Given the description of an element on the screen output the (x, y) to click on. 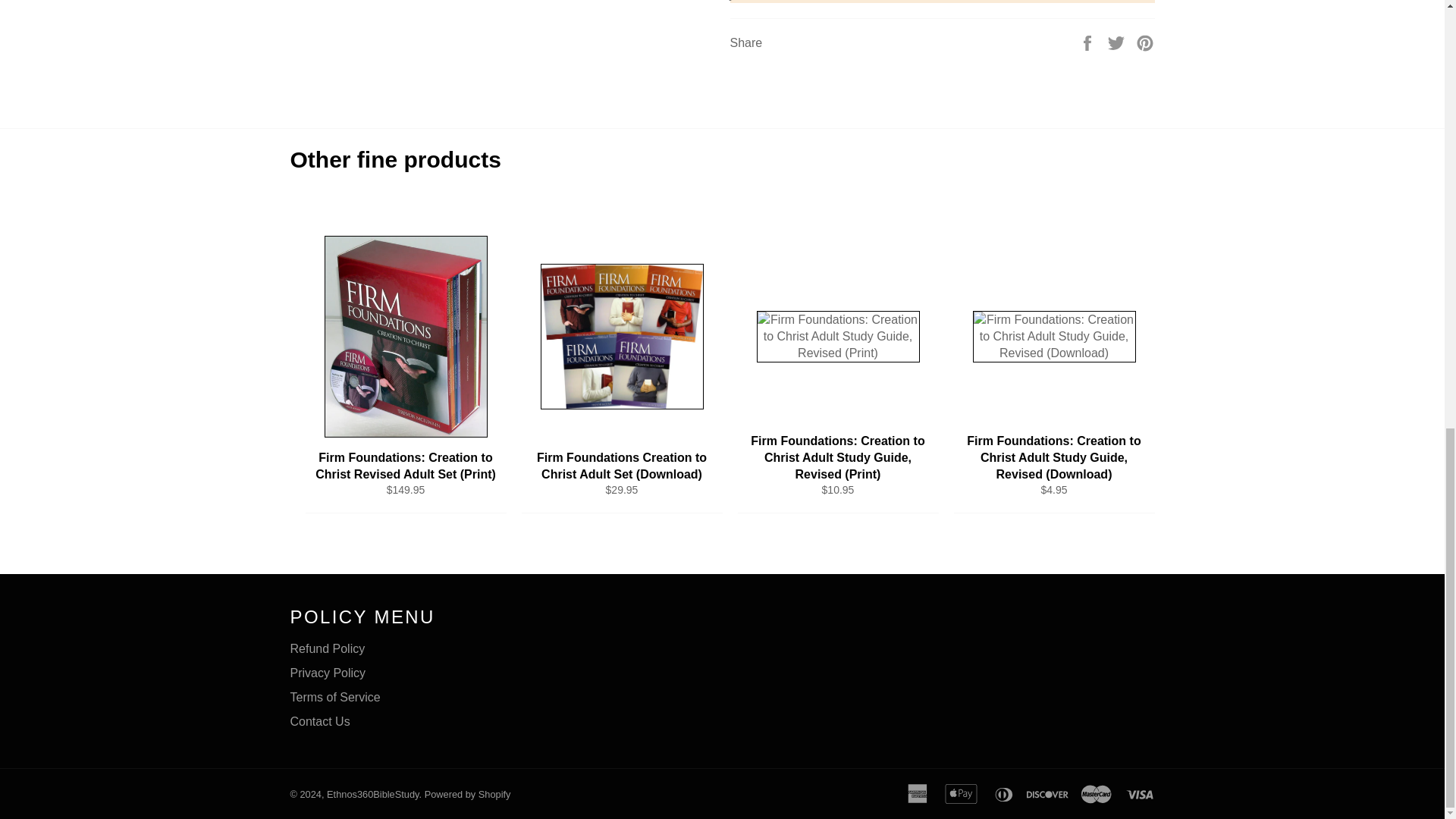
Share on Facebook (1088, 42)
Tweet on Twitter (1117, 42)
Pin on Pinterest (1144, 42)
